Given the description of an element on the screen output the (x, y) to click on. 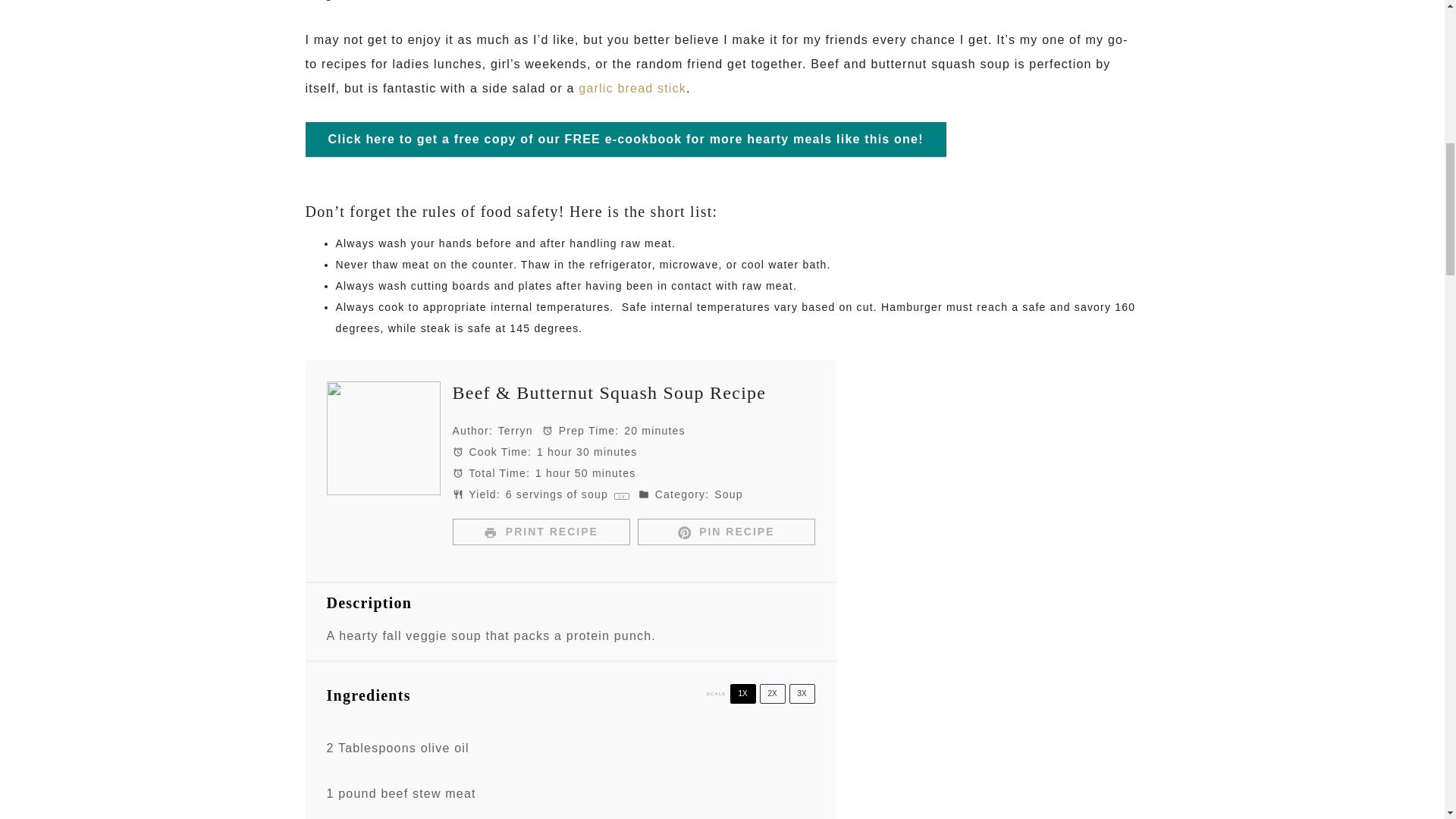
PRINT RECIPE (539, 531)
3X (801, 693)
garlic bread stick (631, 88)
2X (773, 693)
PIN RECIPE (725, 531)
1X (742, 693)
